Given the description of an element on the screen output the (x, y) to click on. 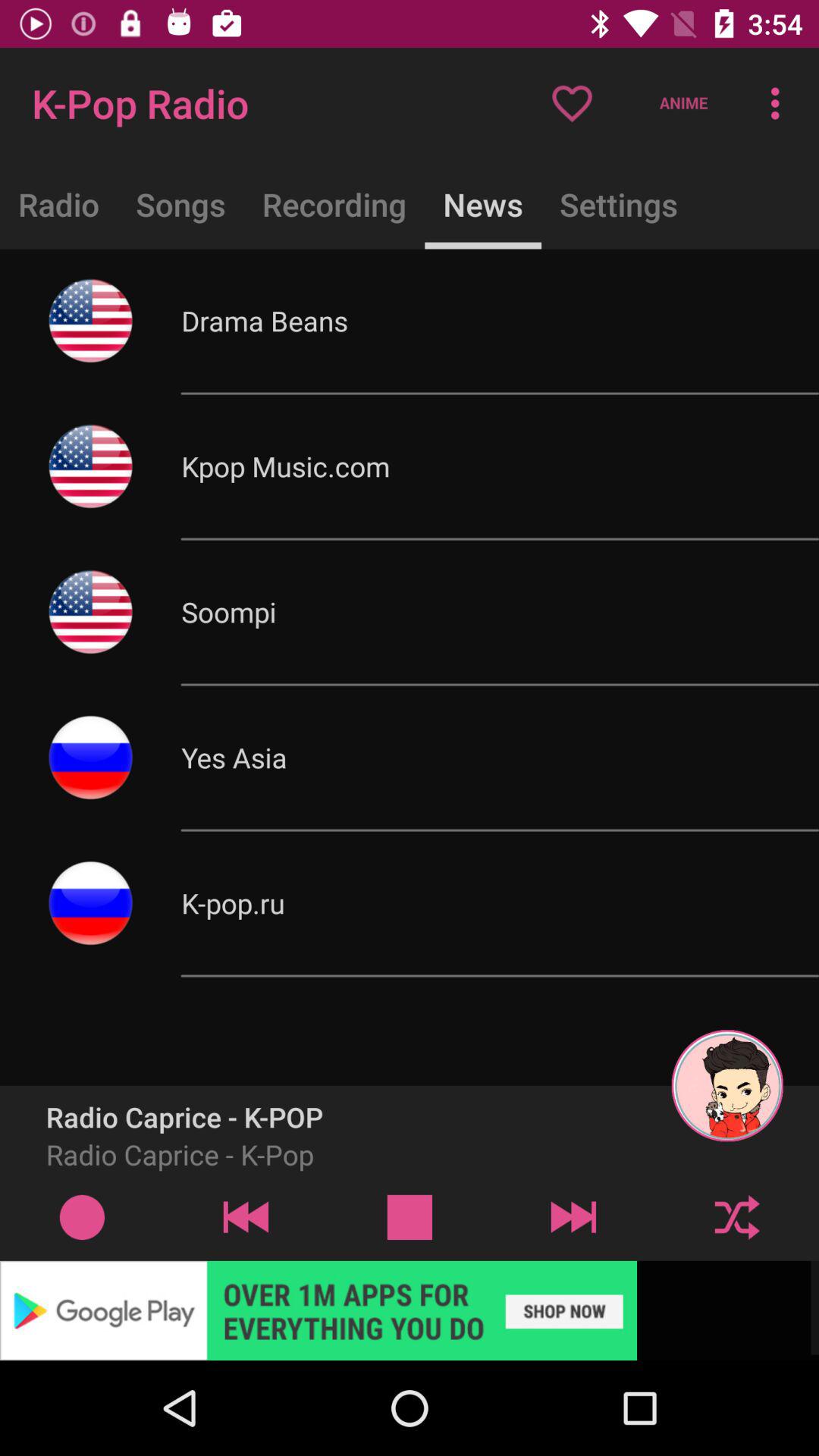
record option (81, 1216)
